Given the description of an element on the screen output the (x, y) to click on. 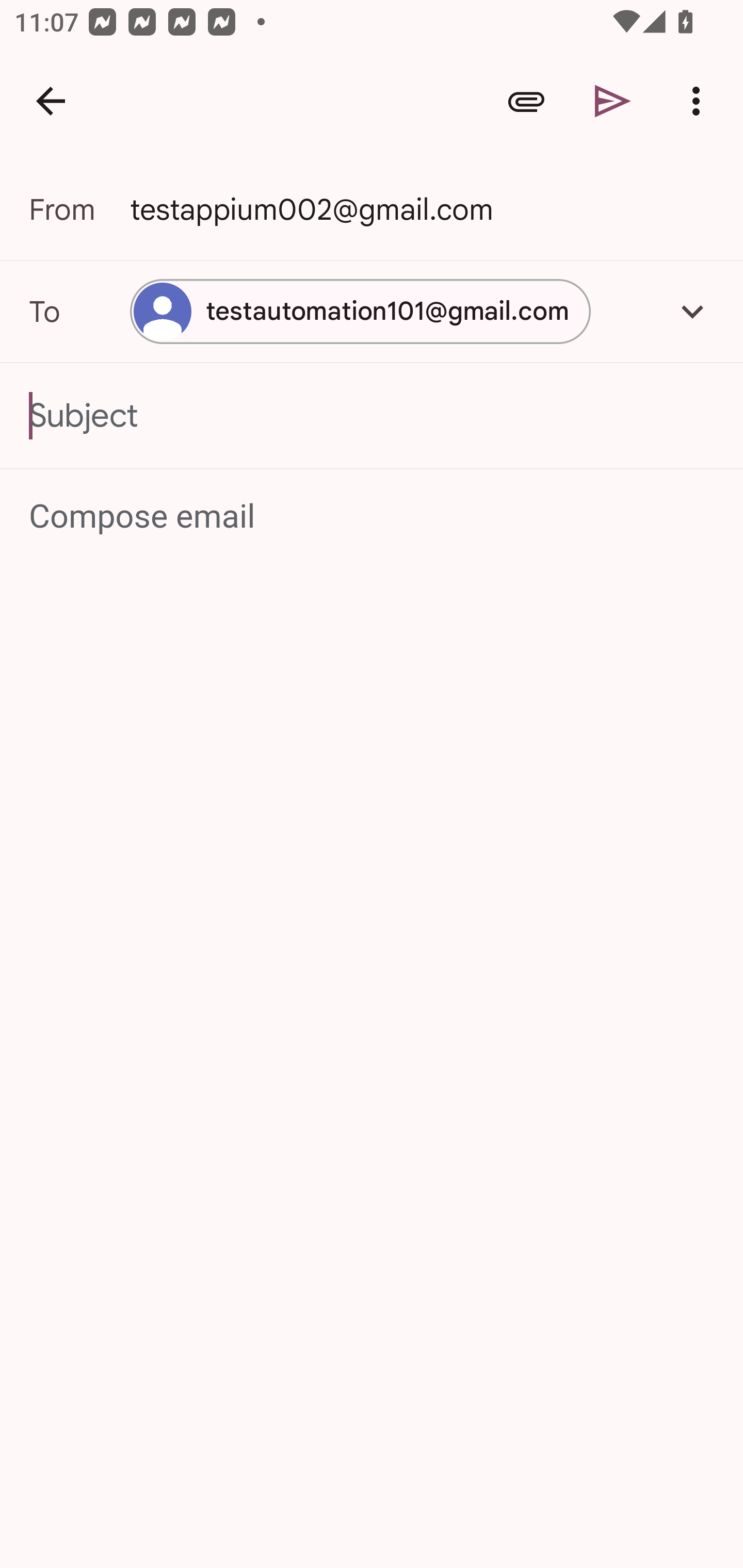
Navigate up (50, 101)
Attach file (525, 101)
Send (612, 101)
More options (699, 101)
From (79, 209)
Add Cc/Bcc (692, 311)
Subject (371, 415)
Compose email (372, 517)
